Given the description of an element on the screen output the (x, y) to click on. 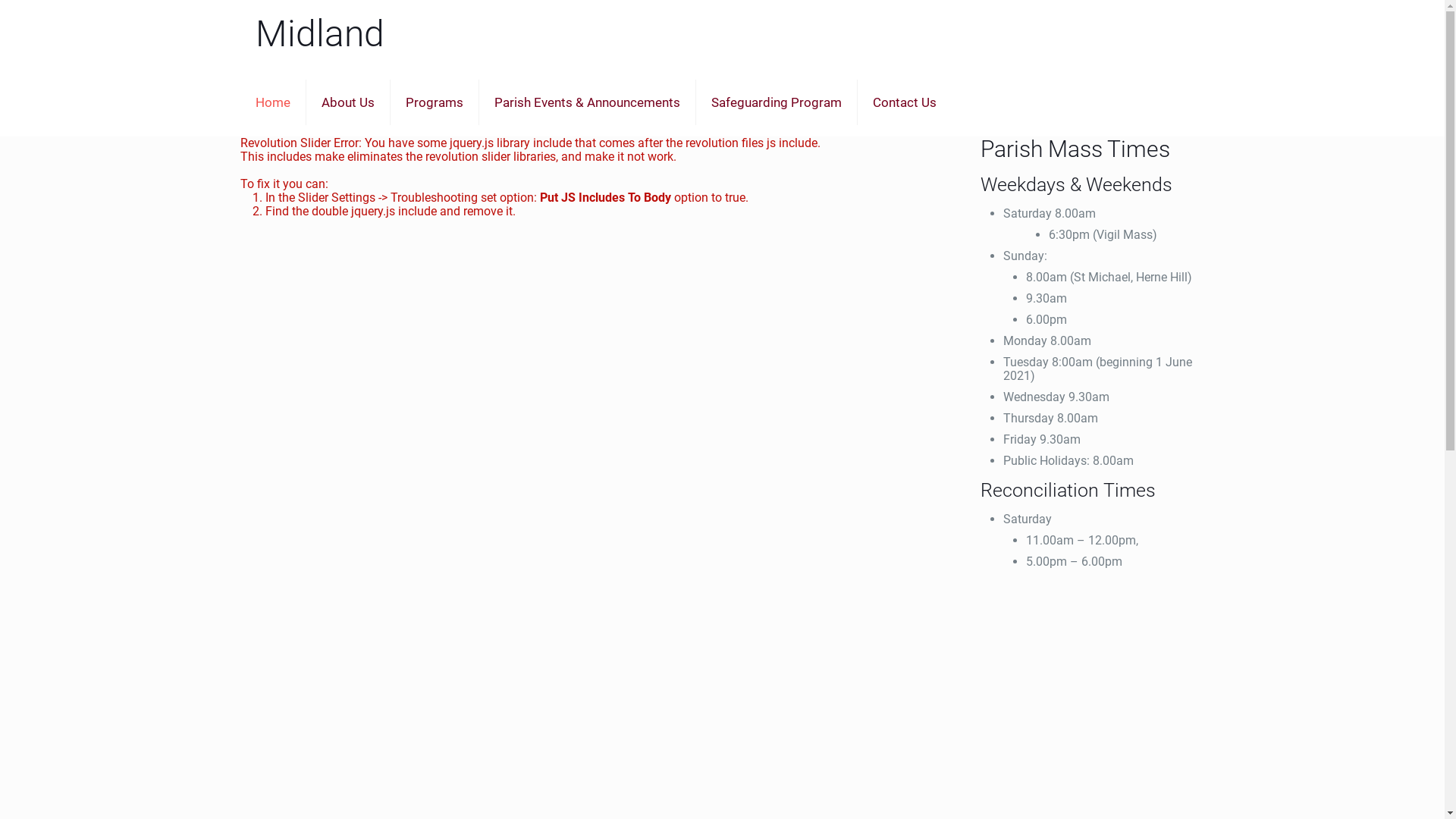
About Us Element type: text (348, 102)
Safeguarding Program Element type: text (776, 102)
Midland Element type: text (319, 34)
Contact Us Element type: text (904, 102)
Parish Events & Announcements Element type: text (587, 102)
Home Element type: text (273, 102)
Programs Element type: text (434, 102)
